Given the description of an element on the screen output the (x, y) to click on. 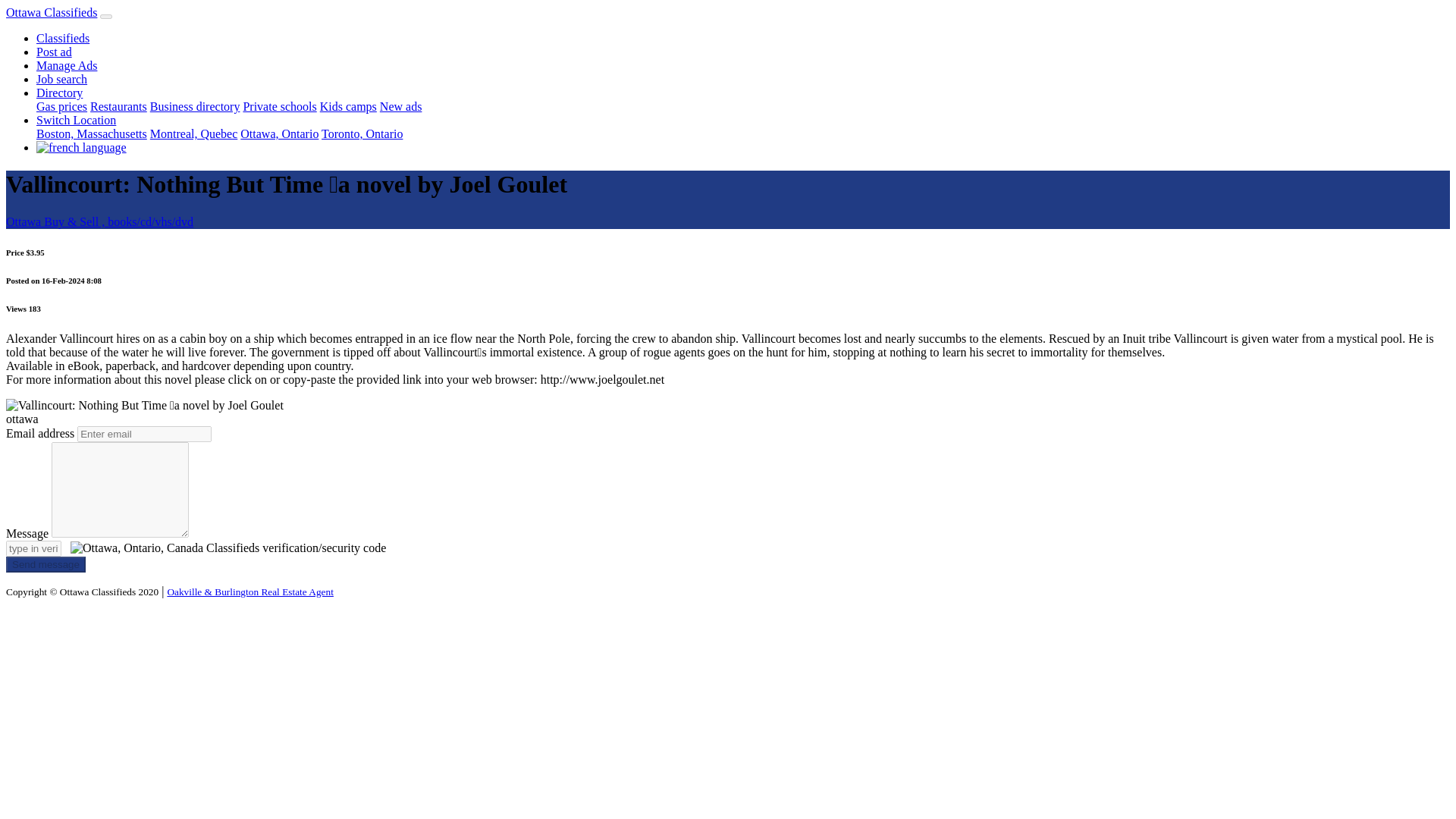
Job search (61, 78)
Ottawa, Ontario (279, 133)
Send message (45, 564)
Post ad (53, 51)
Kids camps (348, 106)
Gas prices (61, 106)
Manage Ads (66, 65)
Switch Location (76, 119)
Classifieds (62, 38)
New ads (401, 106)
Directory (59, 92)
Ottawa Classifieds (51, 11)
Toronto, Ontario (362, 133)
Restaurants (118, 106)
Boston, Massachusetts (91, 133)
